Given the description of an element on the screen output the (x, y) to click on. 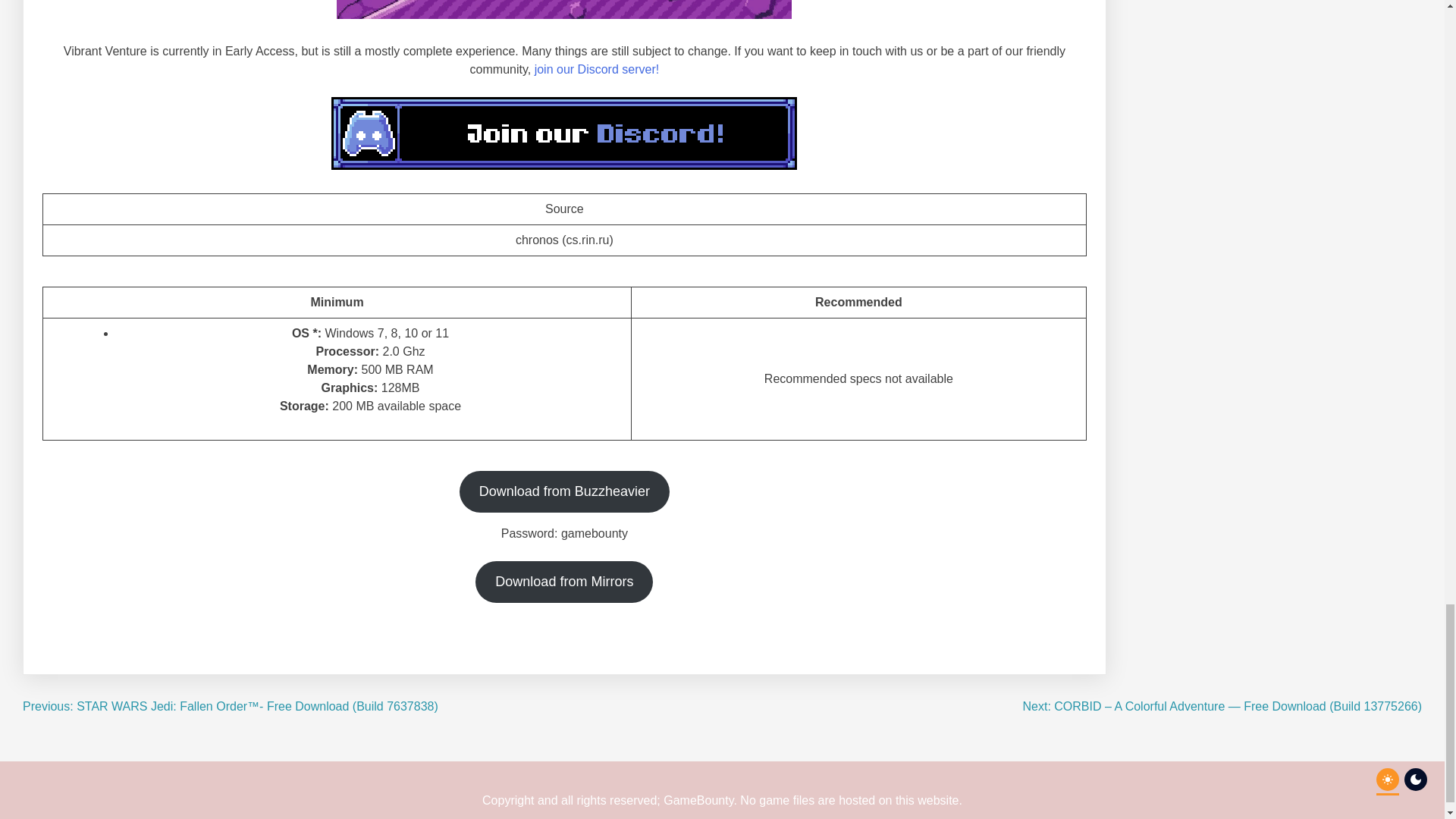
Download from Mirrors (564, 581)
Download from Buzzheavier (564, 491)
join our Discord server! (596, 69)
